Given the description of an element on the screen output the (x, y) to click on. 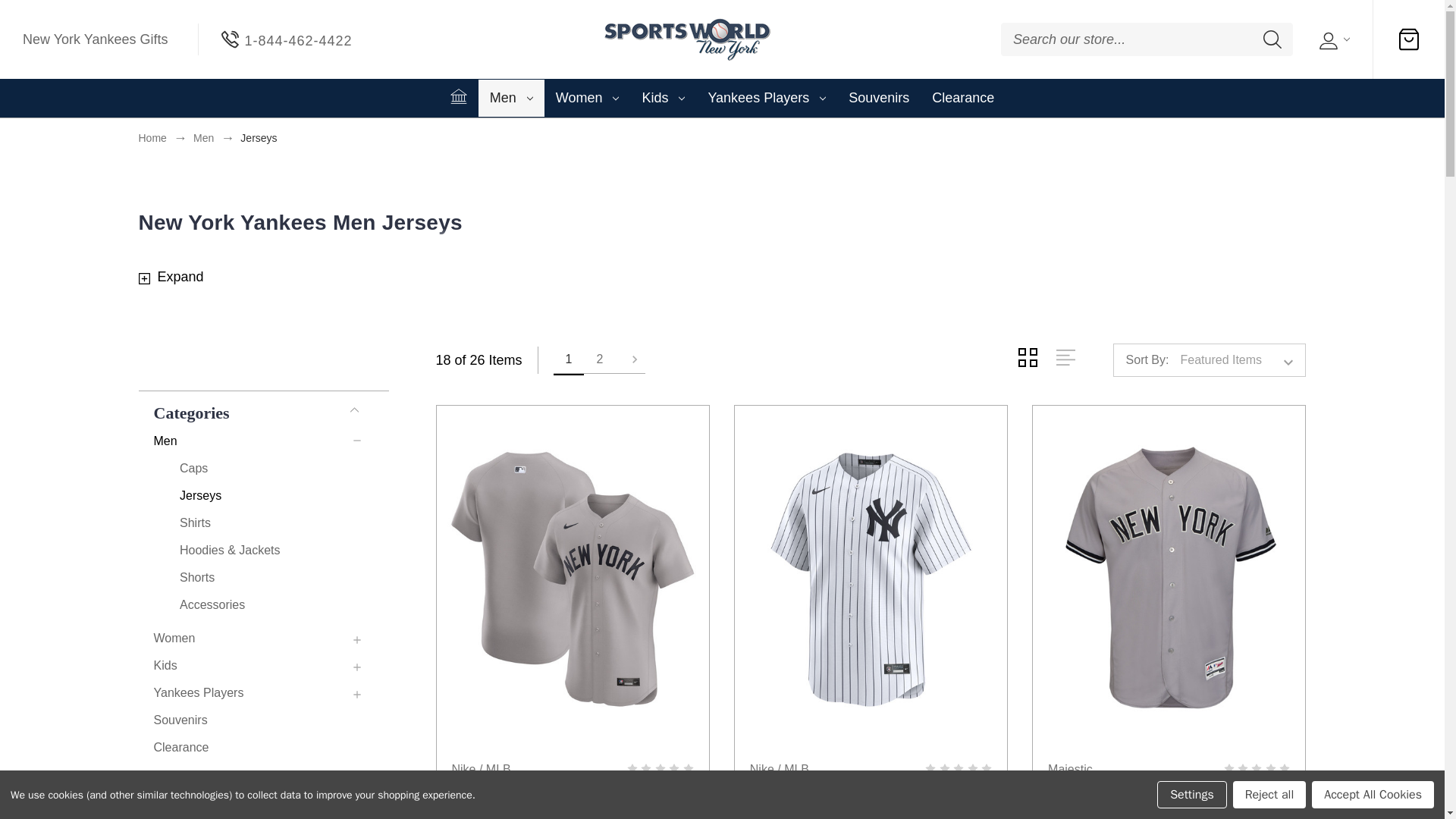
Men's New York Yankees Nike 2024 Home Limited Jersey (870, 578)
Men's New York Yankees Nike 2024 Elite On-Field Road Jersey (572, 578)
Kids (662, 98)
Yankees Players (766, 98)
Men (511, 98)
Women (587, 98)
SEARCH (1272, 39)
SportsWorldNewYork.com (685, 39)
USER (1332, 38)
1-844-462-4422 (286, 39)
